Given the description of an element on the screen output the (x, y) to click on. 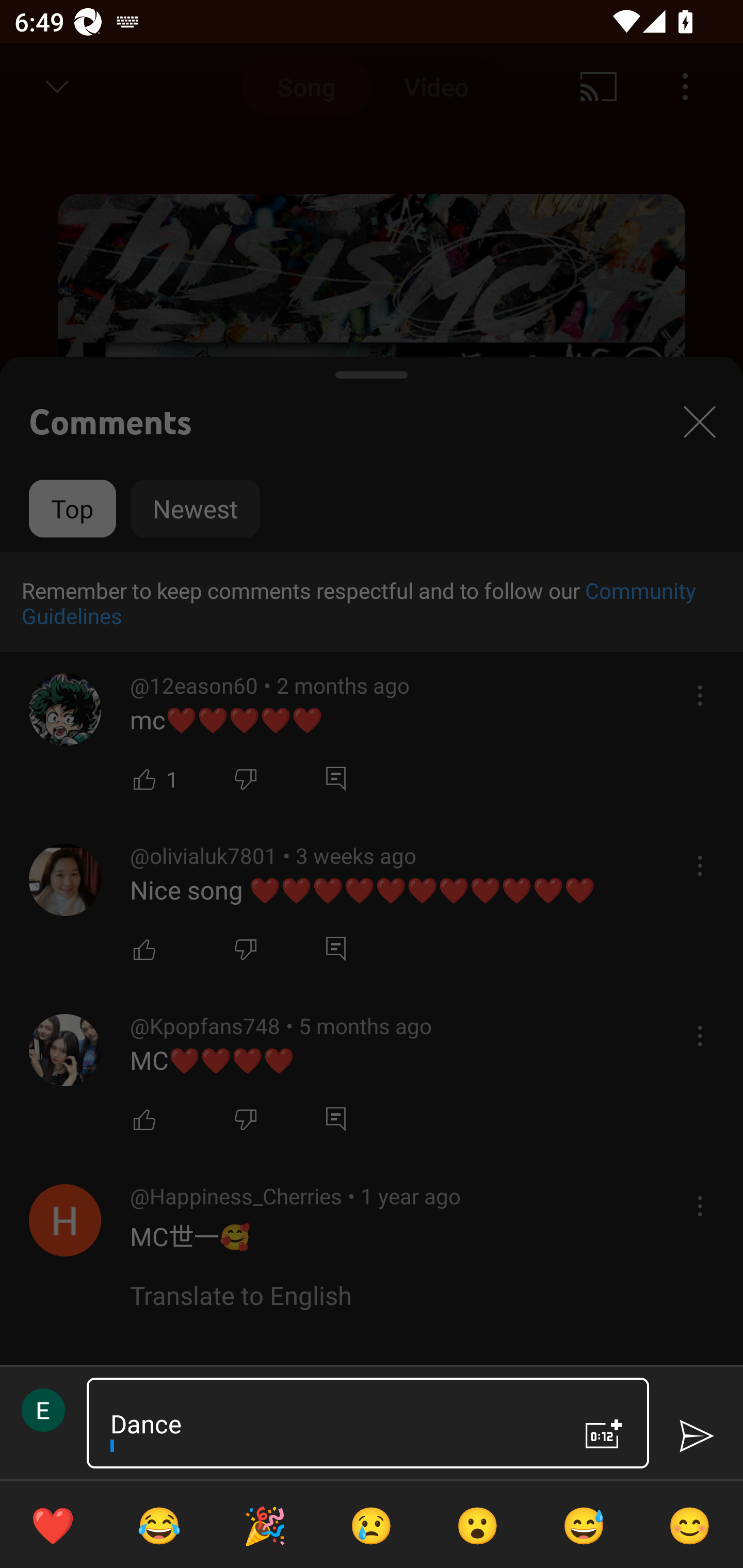
Dance
 (329, 1422)
Add a timestamp (603, 1433)
Send comment (695, 1436)
❤ (53, 1524)
😂 (158, 1524)
🎉 (264, 1524)
😢 (371, 1524)
😮 (477, 1524)
😅 (583, 1524)
😊 (689, 1524)
